Given the description of an element on the screen output the (x, y) to click on. 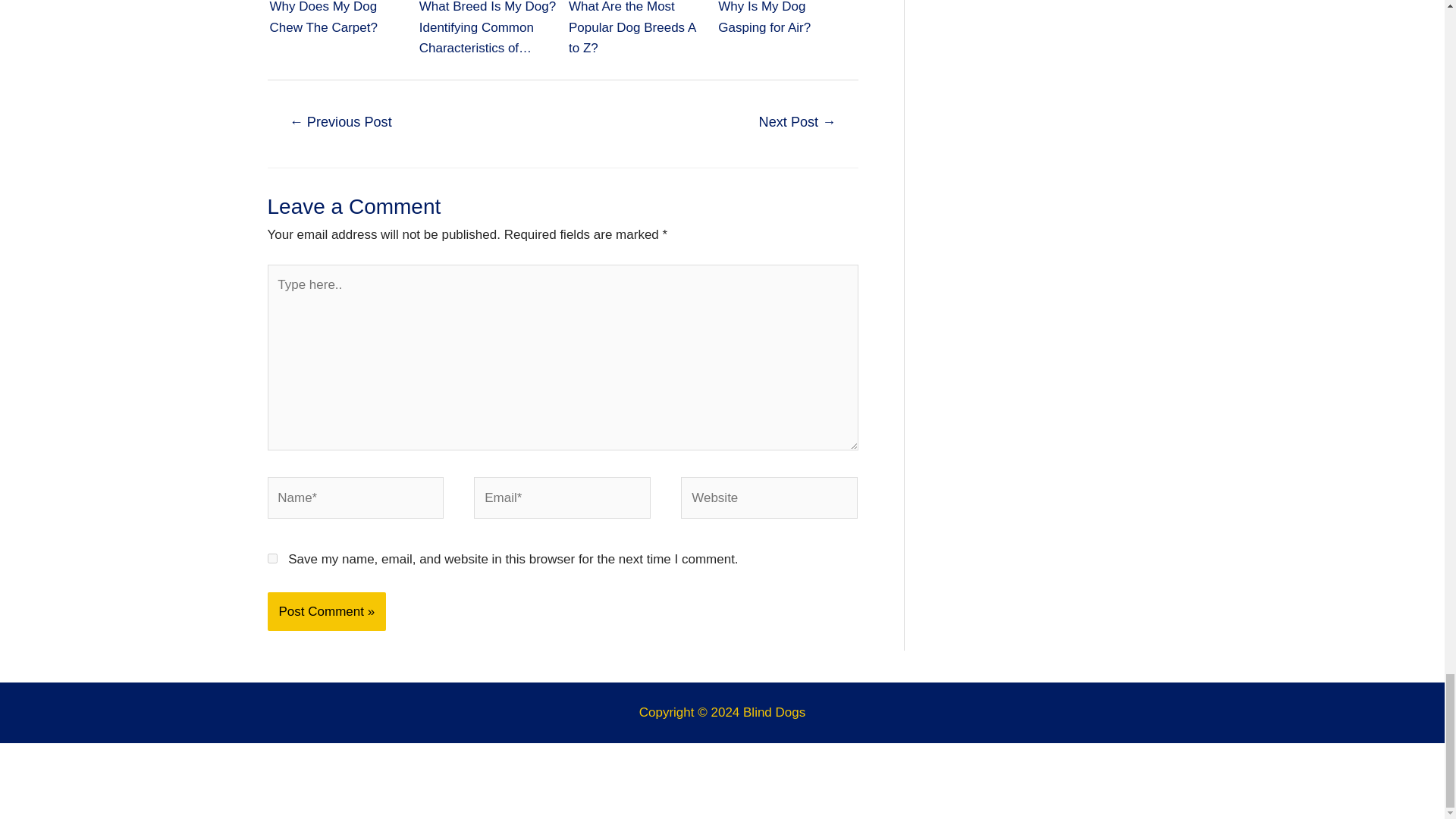
yes (271, 558)
